Given the description of an element on the screen output the (x, y) to click on. 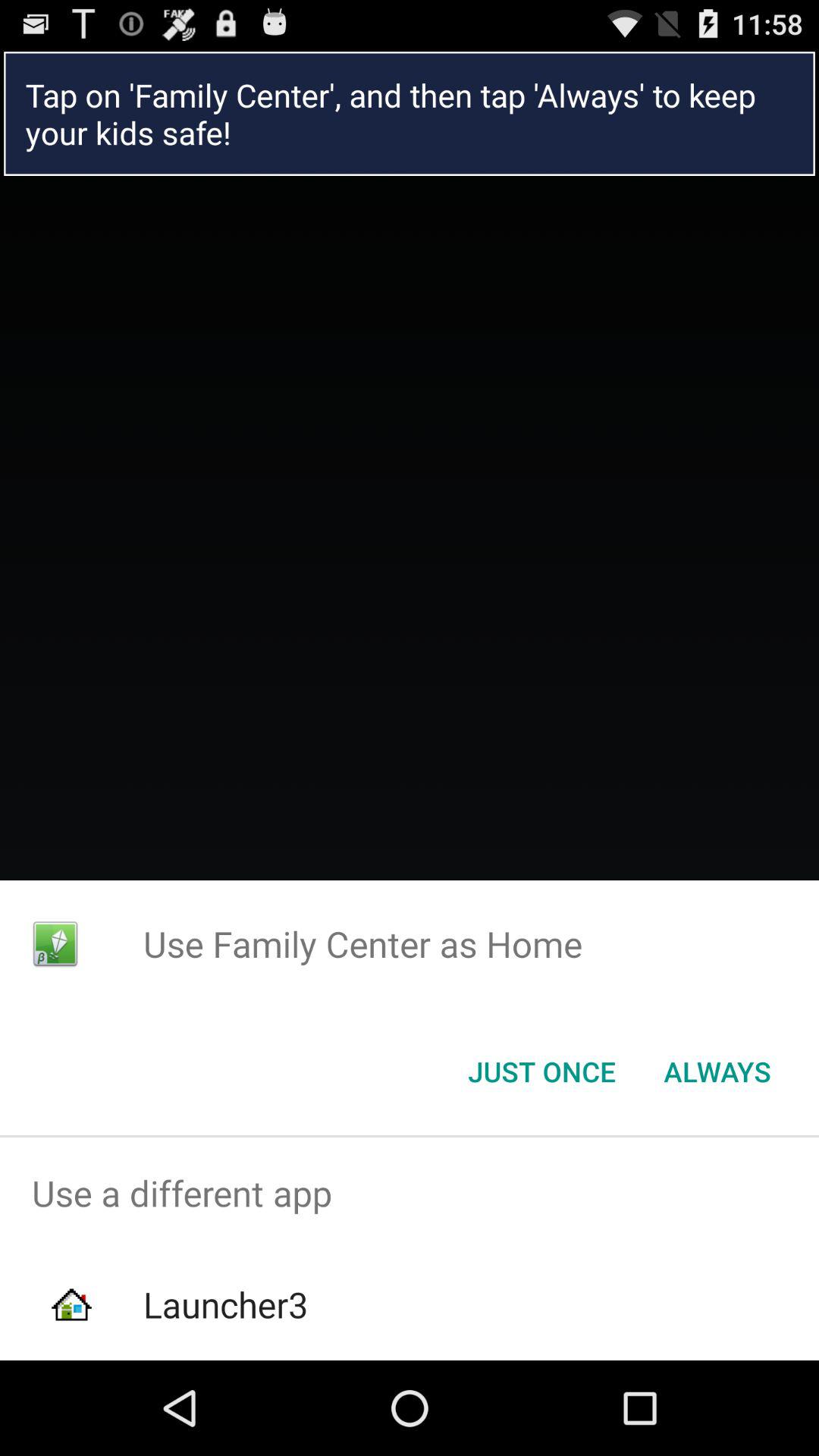
choose icon below the use family center item (717, 1071)
